Given the description of an element on the screen output the (x, y) to click on. 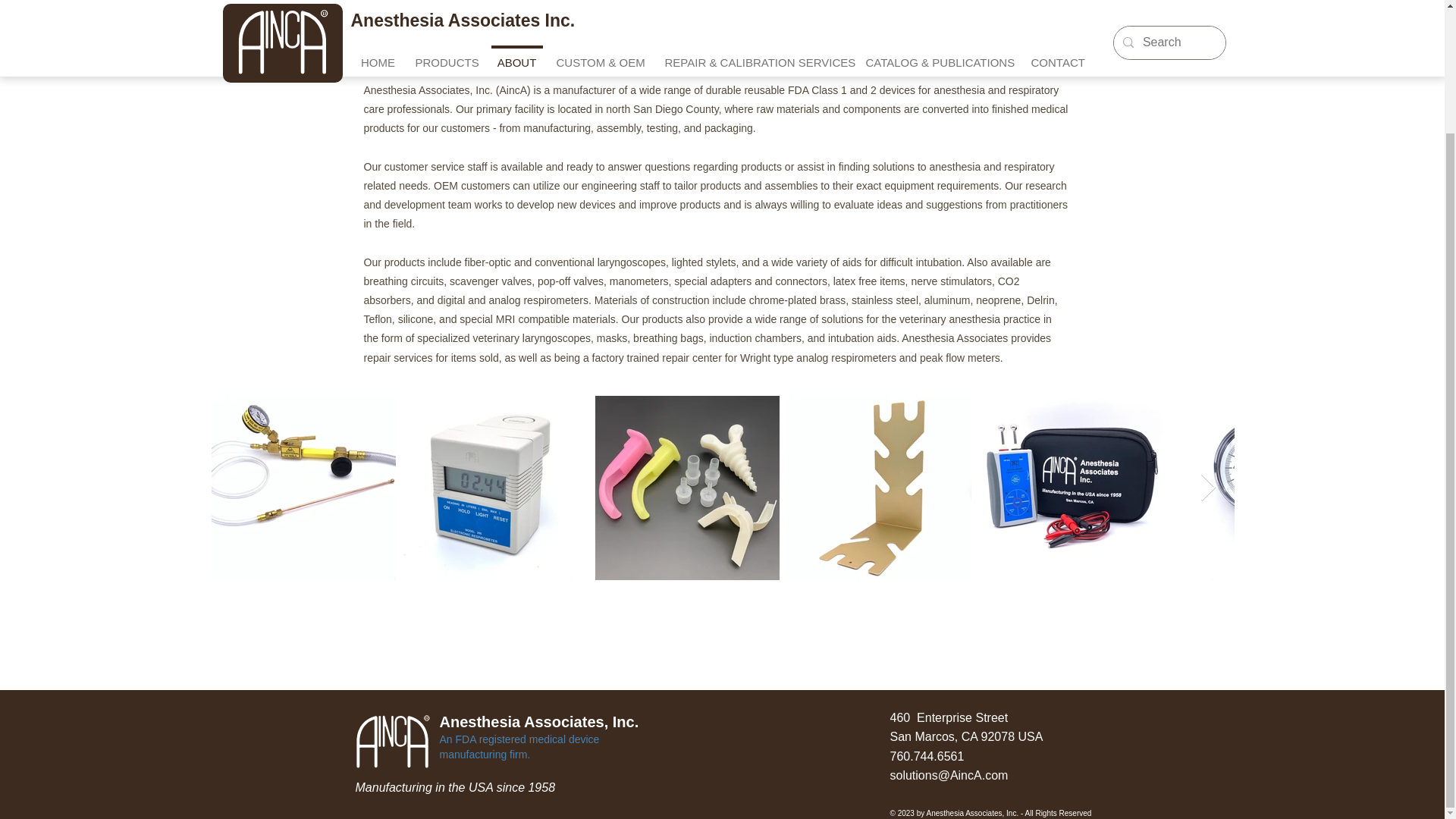
R (391, 740)
